Given the description of an element on the screen output the (x, y) to click on. 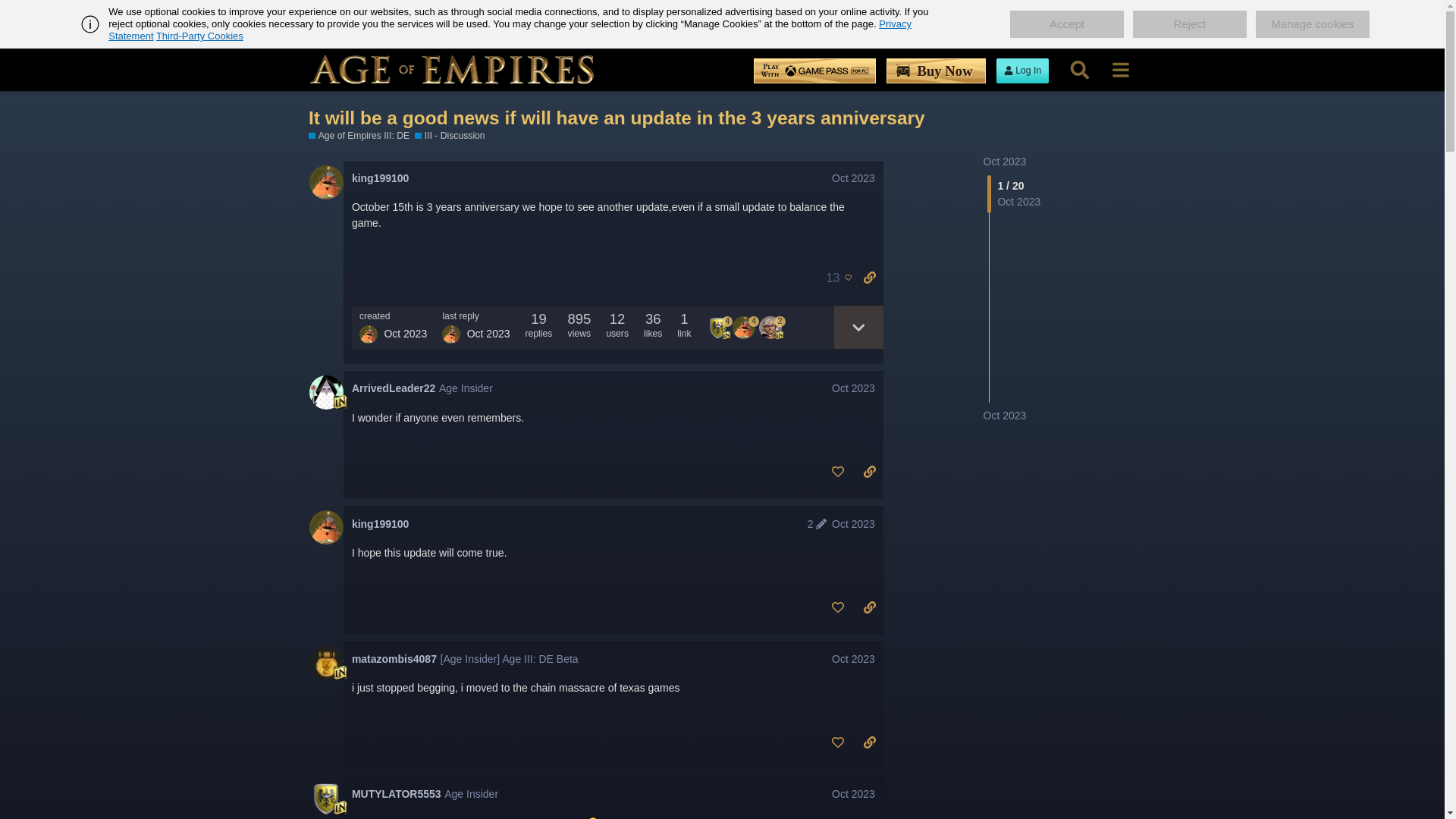
menu (1120, 69)
Discussion about Age of Empires III: Definitive Edition! (449, 135)
last reply (475, 316)
Post date (853, 177)
Manage cookies (1312, 23)
king199100 (380, 178)
Jump to the last post (1004, 415)
13 (834, 277)
Age of Empires III: DE (358, 135)
Buy Now (935, 70)
expand topic details (857, 326)
2 (772, 326)
4 (719, 326)
ArrivedLeader22 (393, 388)
Oct 2023 (853, 177)
